Given the description of an element on the screen output the (x, y) to click on. 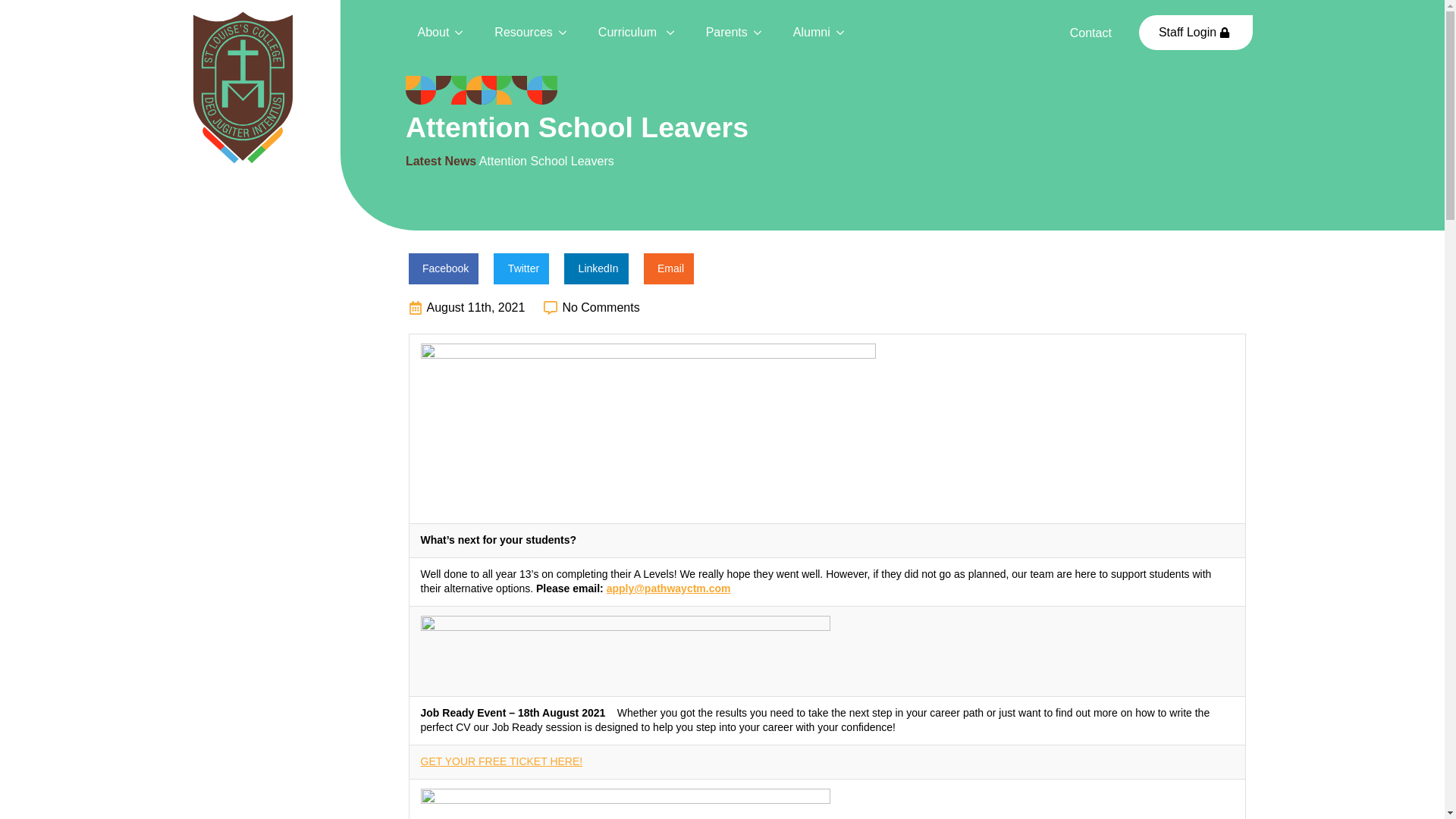
Parents (721, 32)
Alumni (804, 32)
About (427, 32)
GET YOUR FREE TICKET HERE! (501, 761)
Curriculum  (623, 32)
Resources (516, 32)
Latest News (441, 160)
Contact (1091, 33)
Staff Login (1195, 32)
